Given the description of an element on the screen output the (x, y) to click on. 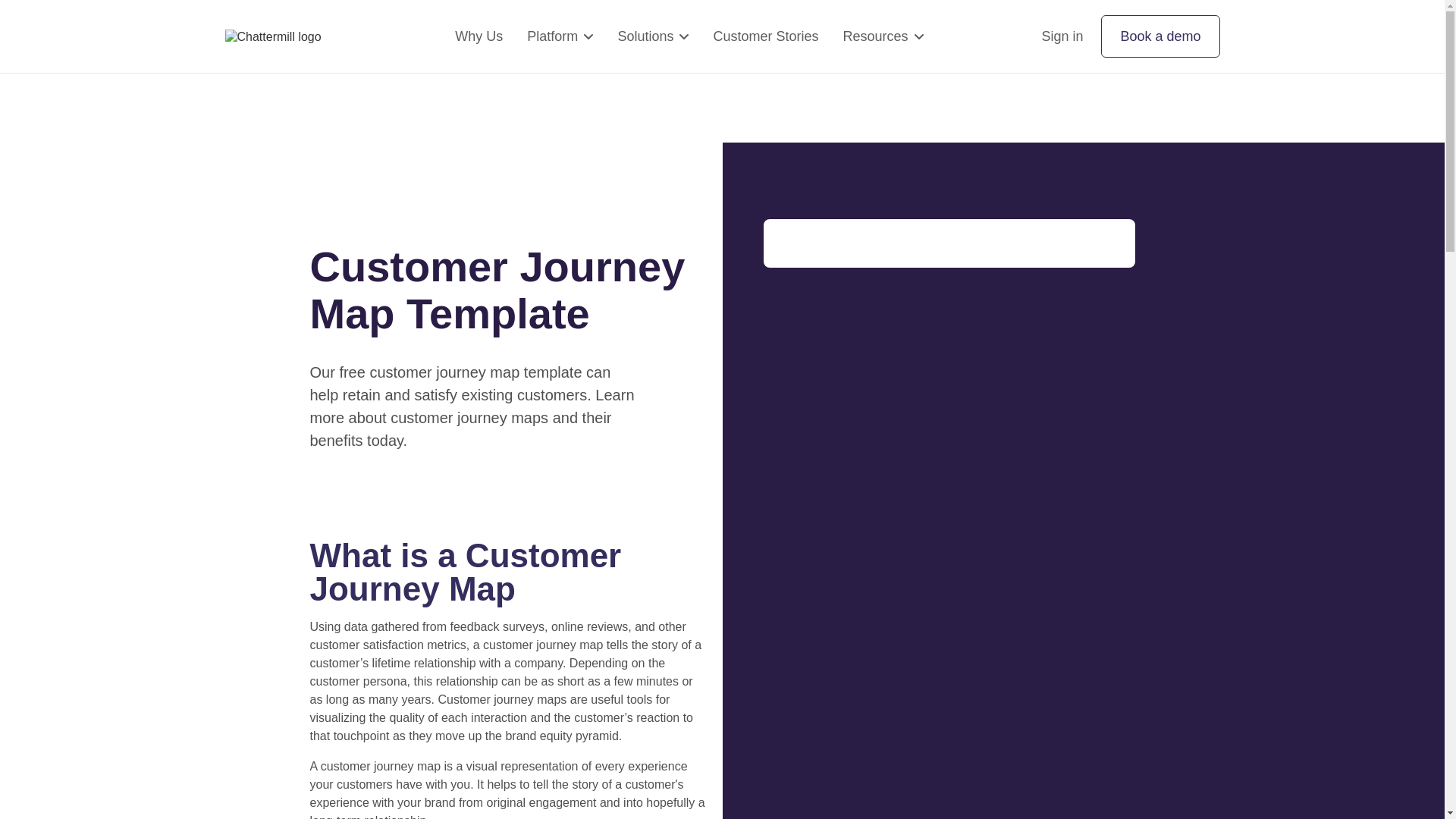
Why Us (478, 35)
Customer Stories (765, 35)
